Given the description of an element on the screen output the (x, y) to click on. 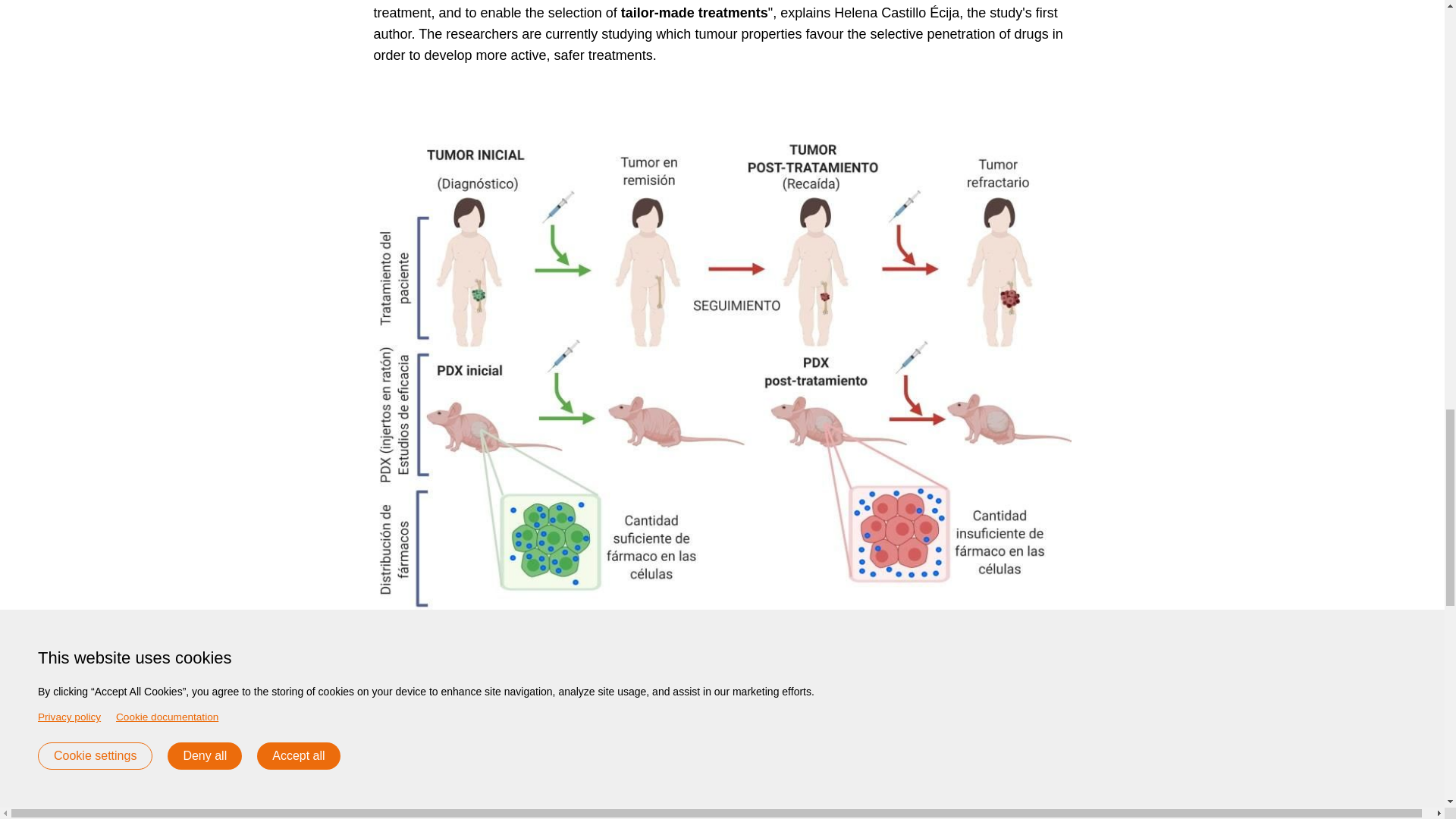
Dr. Oliver Haag examining his patient Aissam (1151, 777)
